Given the description of an element on the screen output the (x, y) to click on. 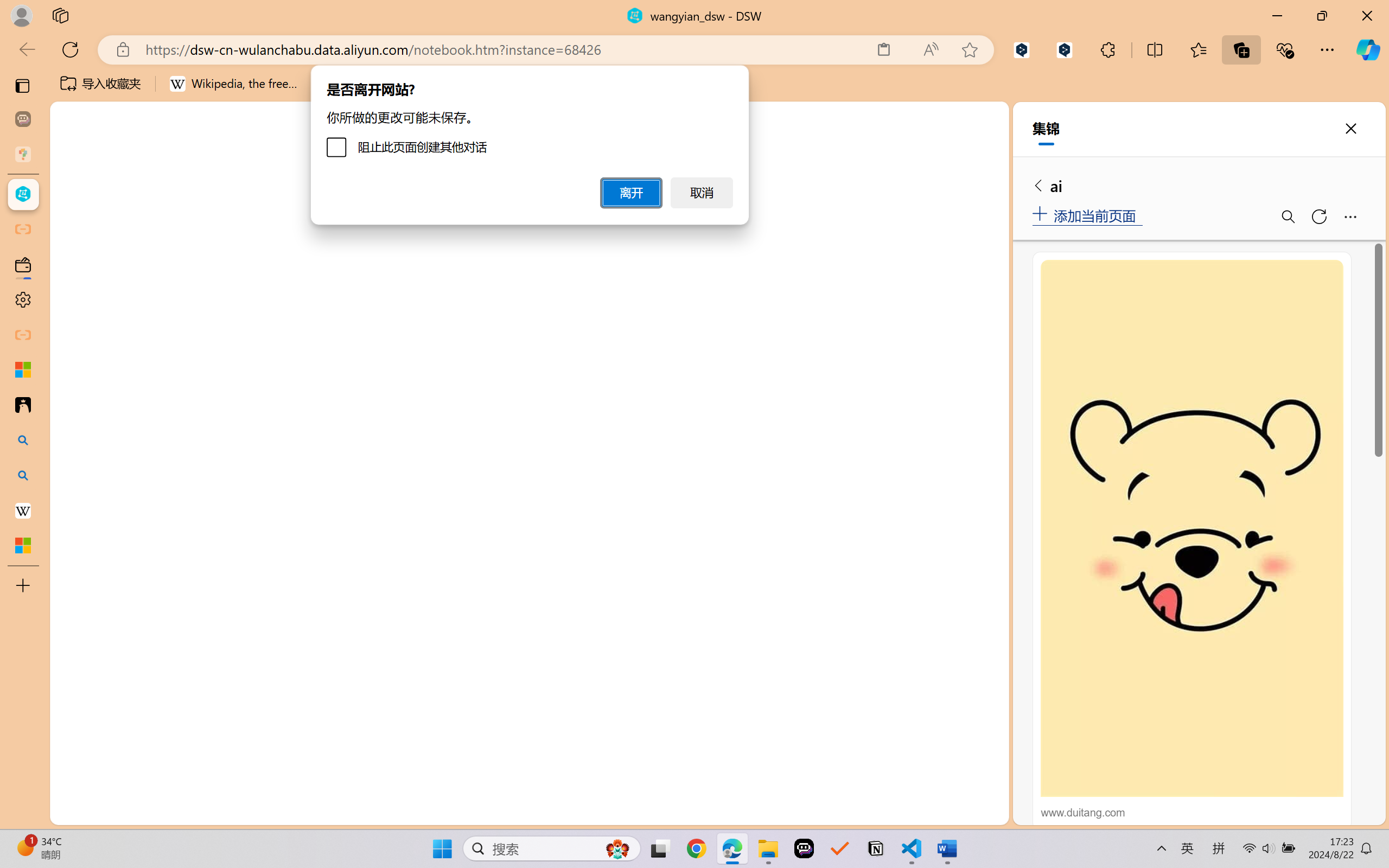
Microsoft security help and learning (22, 369)
Ports - 5 forwarded ports (630, 565)
Explorer actions (211, 194)
Toggle Primary Side Bar (Ctrl+B) (919, 159)
Launch Profile... (911, 565)
Terminal 1 bash (949, 593)
Debug Console (Ctrl+Shift+Y) (463, 565)
Terminal (Ctrl+`) (553, 565)
